Given the description of an element on the screen output the (x, y) to click on. 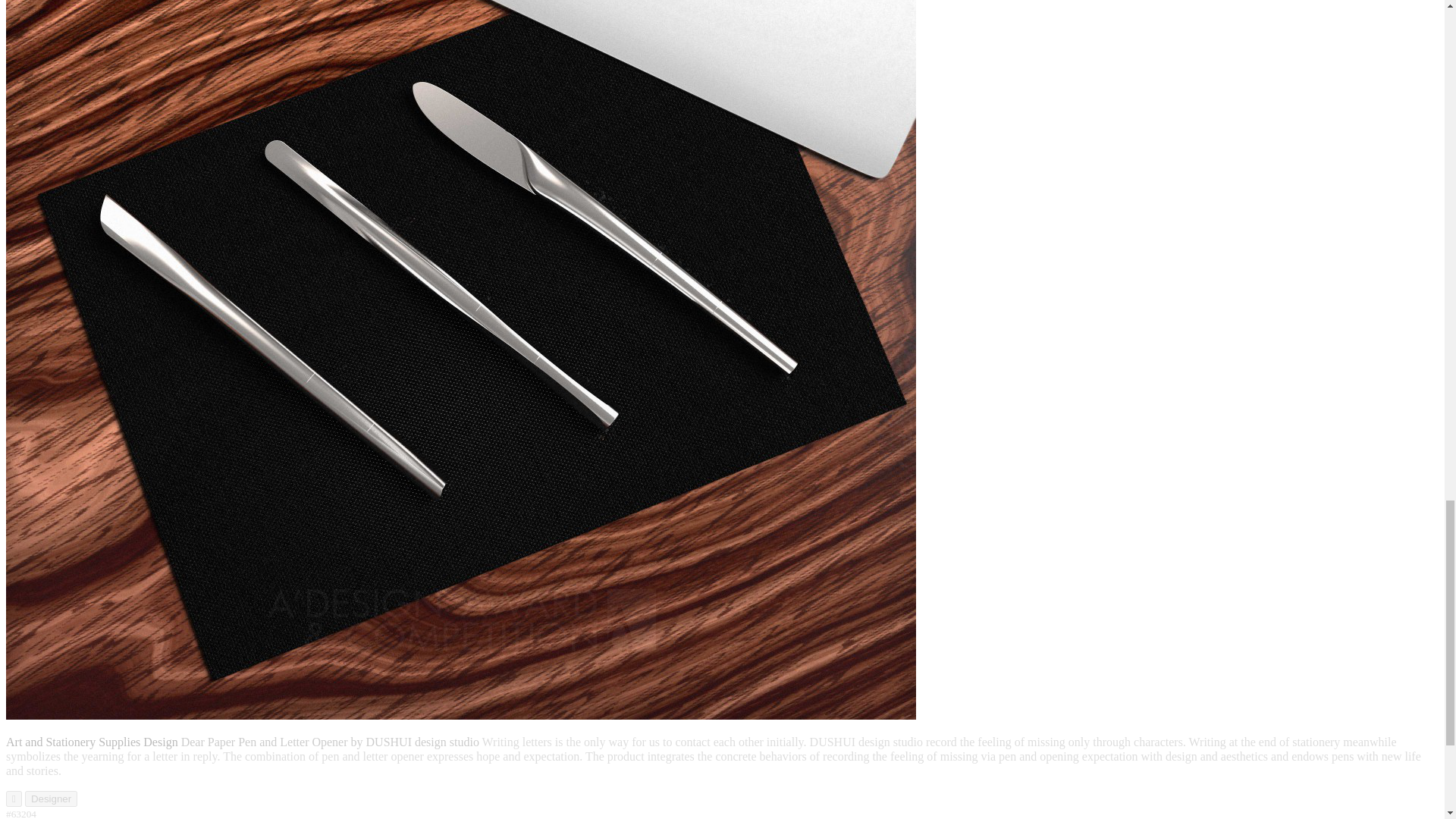
Designer (50, 798)
